Given the description of an element on the screen output the (x, y) to click on. 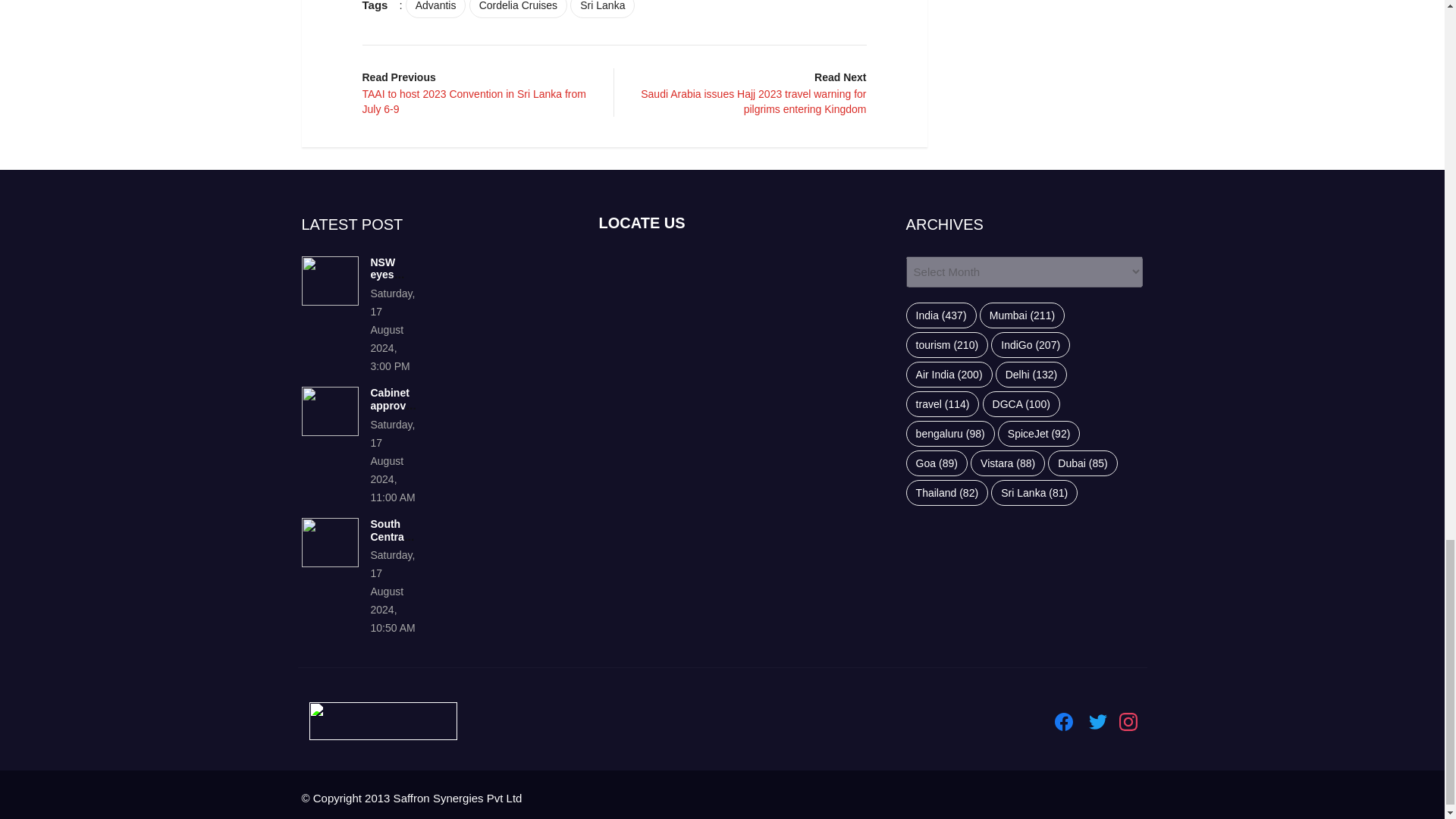
NSW eyes double-digital growth from India this year (329, 280)
Facebook (1063, 721)
South Central Railway to run special weekend trains (329, 542)
Twitter (1097, 721)
Instagram (1128, 721)
